Given the description of an element on the screen output the (x, y) to click on. 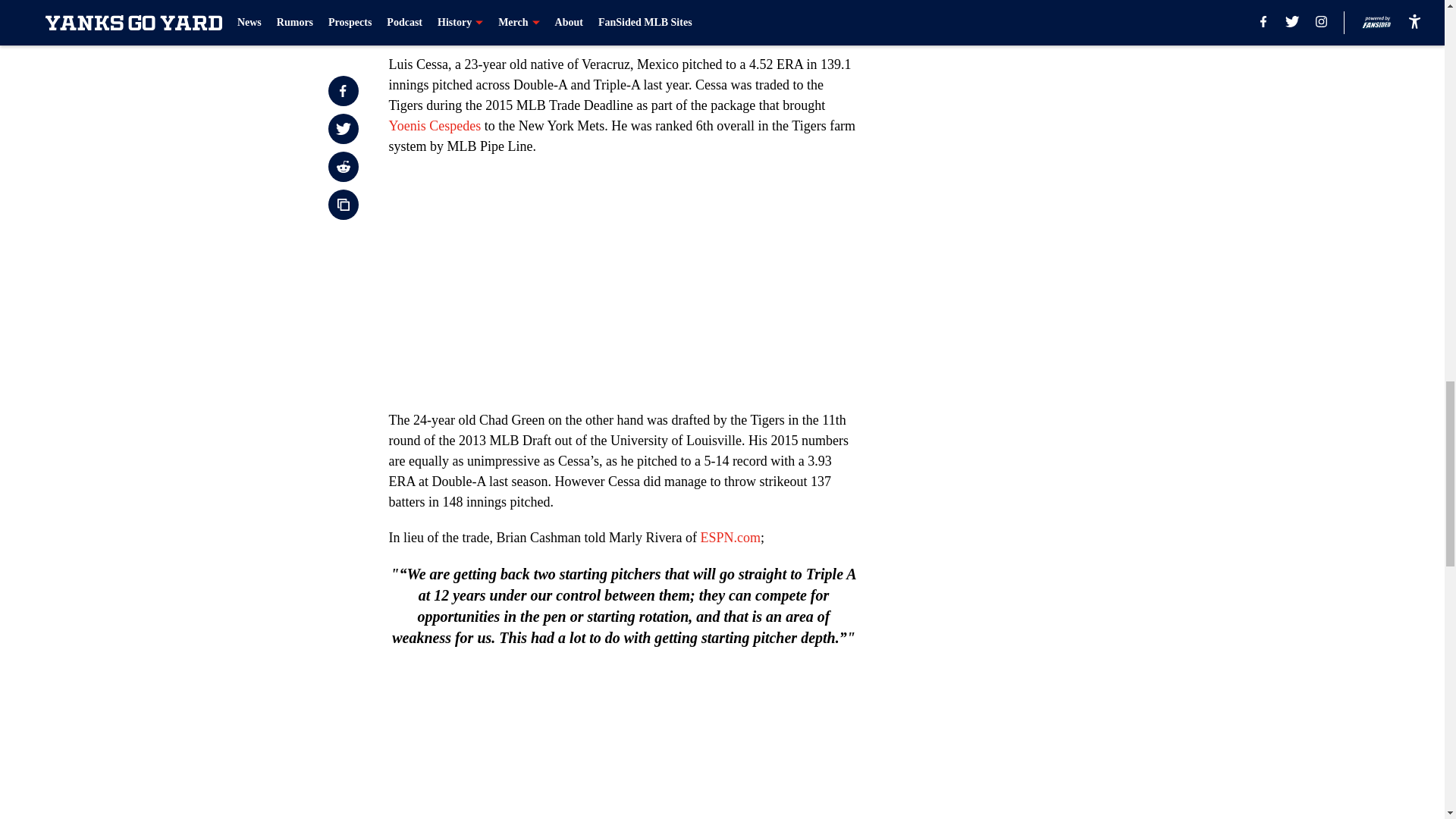
ESPN.com (730, 537)
Chasen Shreve (772, 7)
Yoenis Cespedes (434, 125)
